Given the description of an element on the screen output the (x, y) to click on. 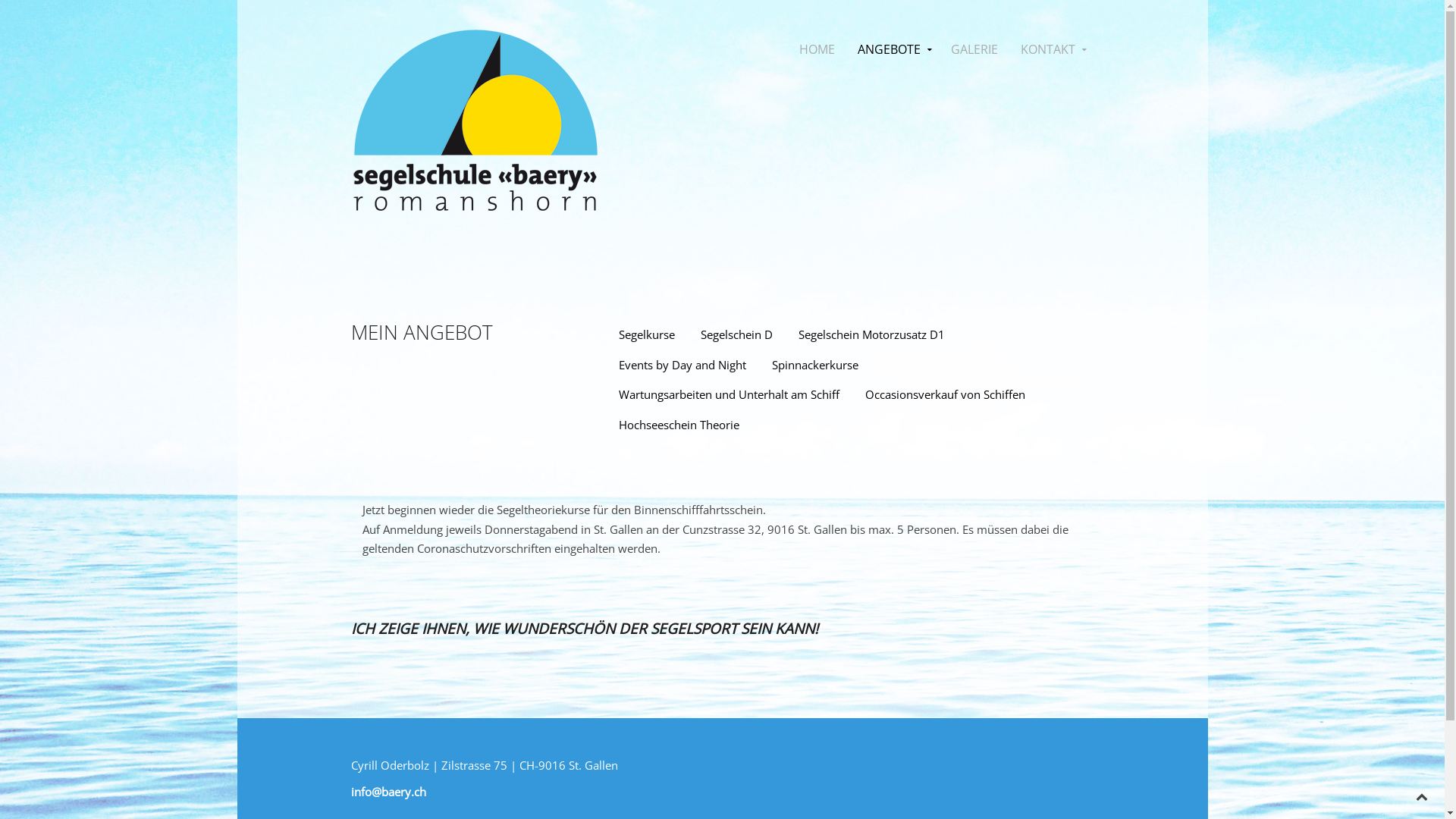
Events by Day and Night Element type: text (682, 365)
Segelkurse Element type: text (646, 335)
GALERIE Element type: text (973, 49)
Occasionsverkauf von Schiffen Element type: text (945, 394)
Hochseeschein Theorie Element type: text (678, 424)
Segelschein D Element type: text (736, 335)
HOME Element type: text (816, 49)
Wartungsarbeiten und Unterhalt am Schiff Element type: text (728, 394)
Spinnackerkurse Element type: text (815, 365)
KONTAKT Element type: text (1050, 49)
Segelschein Motorzusatz D1 Element type: text (871, 335)
ANGEBOTE Element type: text (892, 49)
